Given the description of an element on the screen output the (x, y) to click on. 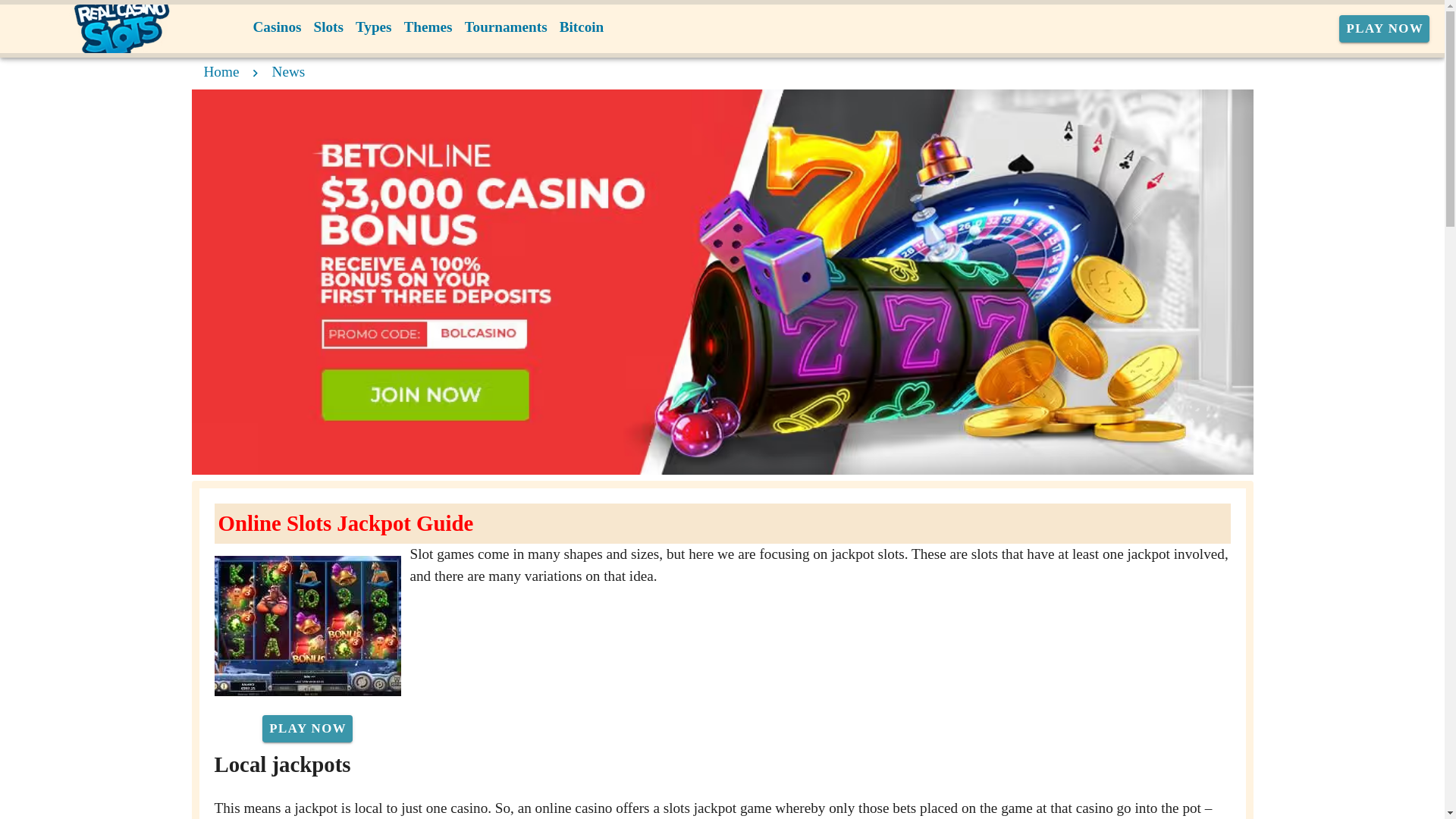
PLAY NOW (307, 728)
Home (220, 71)
Types (373, 27)
Casinos (277, 27)
Themes (427, 27)
PLAY NOW (1384, 28)
News (288, 71)
Tournaments (505, 27)
Slots (328, 27)
Bitcoin (581, 27)
